Given the description of an element on the screen output the (x, y) to click on. 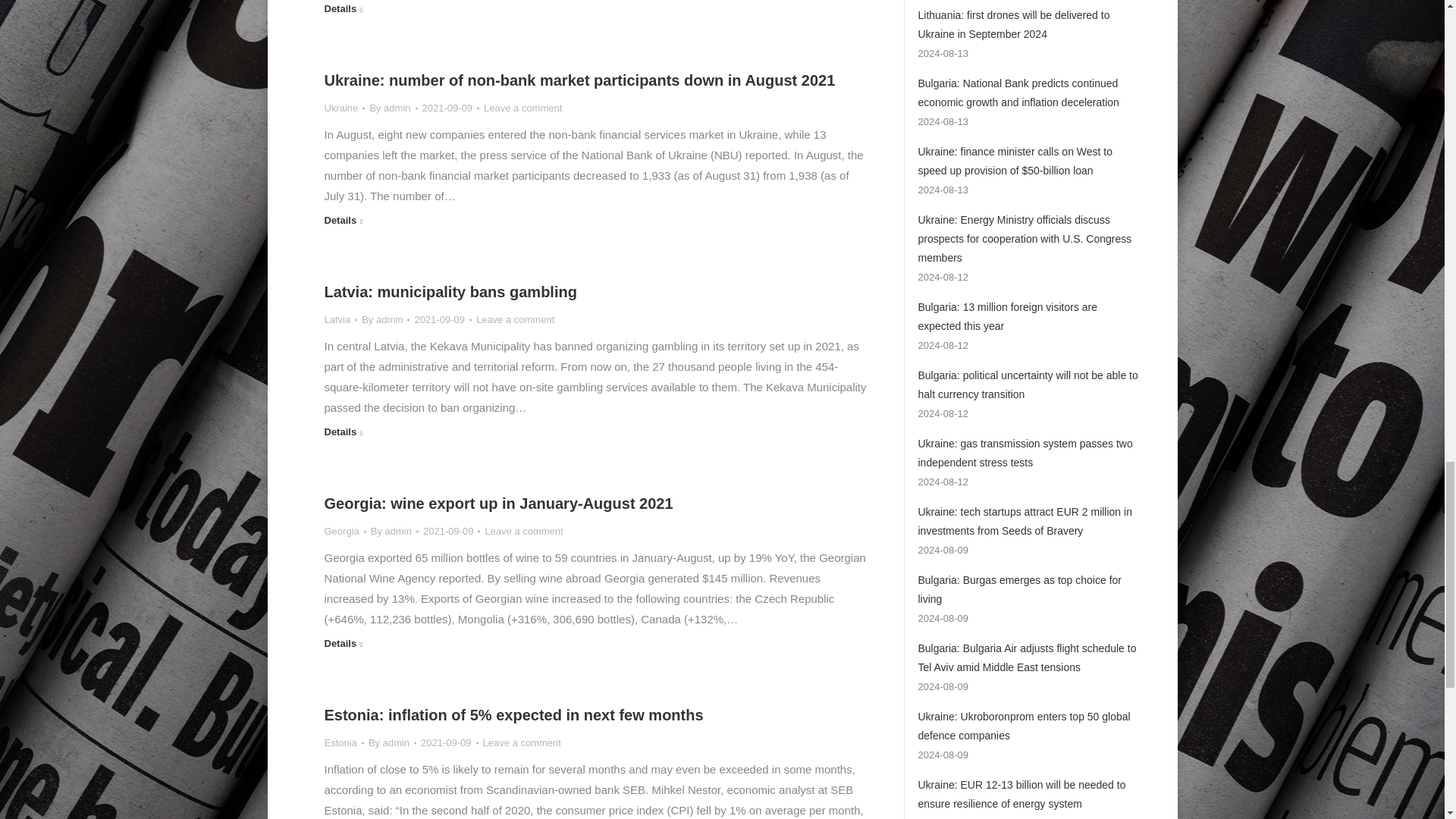
Latvia: municipality bans gambling (450, 291)
View all posts by admin (392, 108)
6:52 AM (451, 108)
View all posts by admin (395, 530)
6:51 AM (442, 319)
Details (343, 10)
View all posts by admin (385, 319)
Georgia: wine export up in January-August 2021 (498, 503)
